Given the description of an element on the screen output the (x, y) to click on. 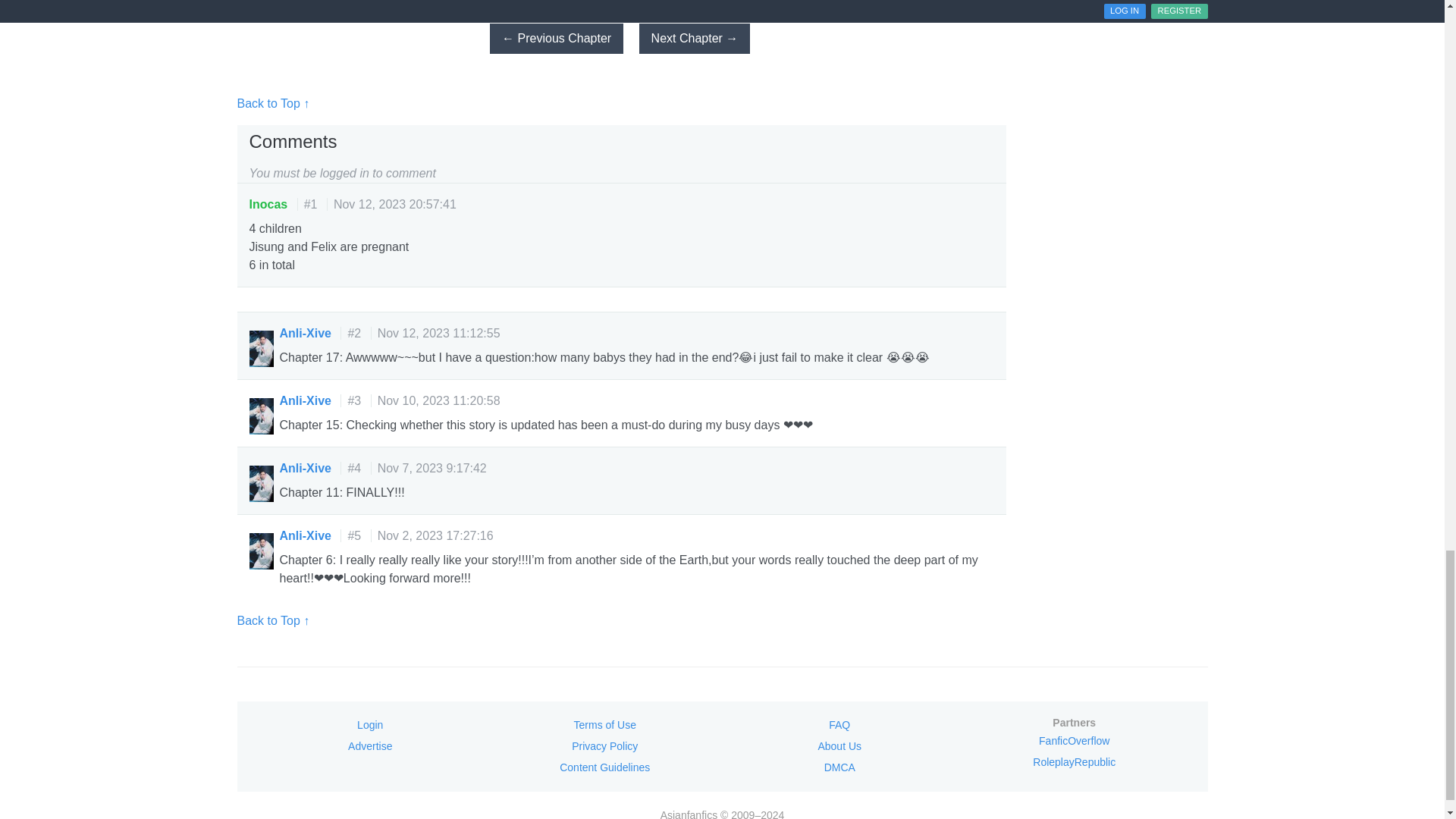
FAQ (839, 725)
